Given the description of an element on the screen output the (x, y) to click on. 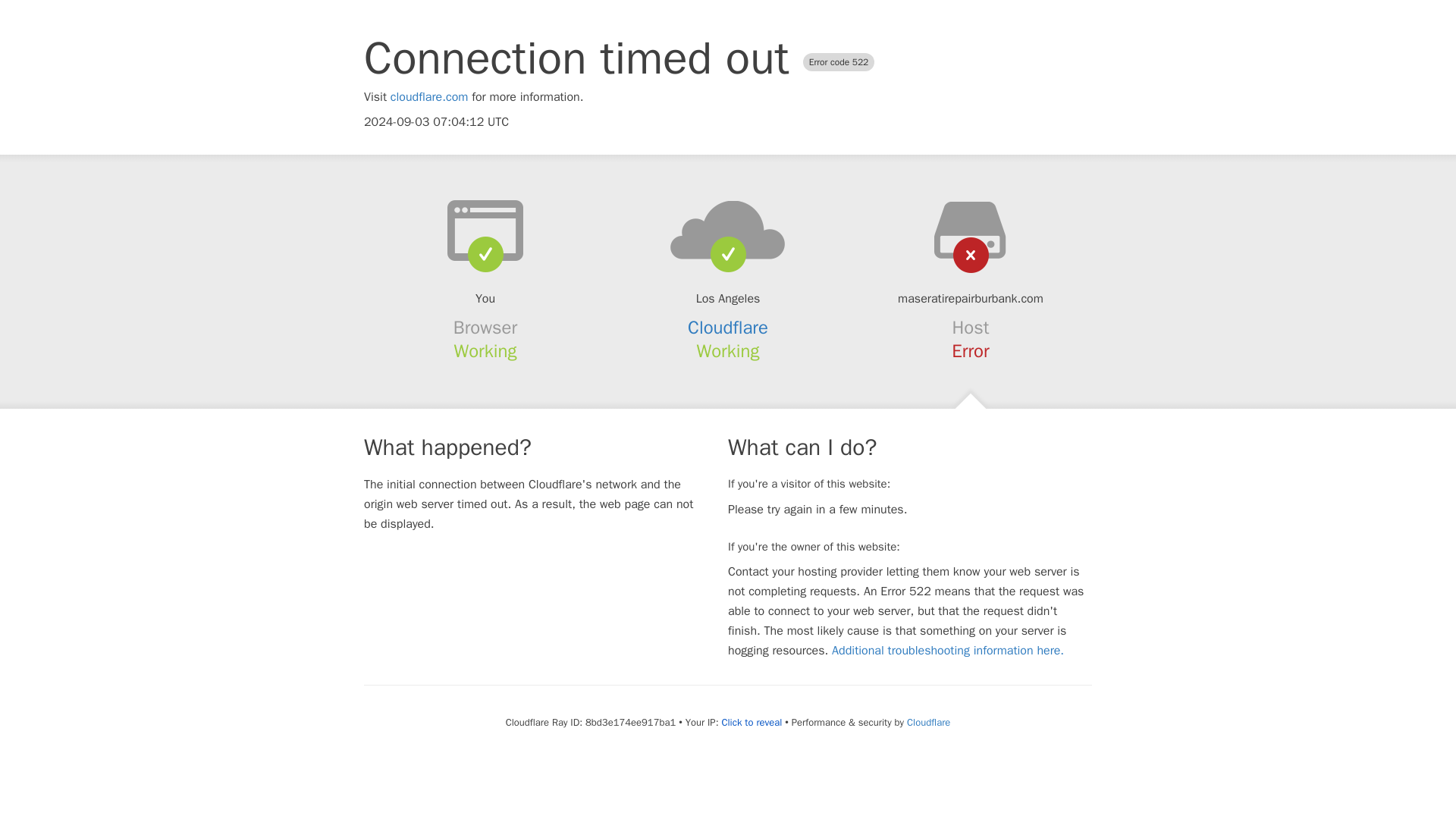
Additional troubleshooting information here. (947, 650)
Cloudflare (928, 721)
Click to reveal (750, 722)
cloudflare.com (429, 96)
Cloudflare (727, 327)
